Given the description of an element on the screen output the (x, y) to click on. 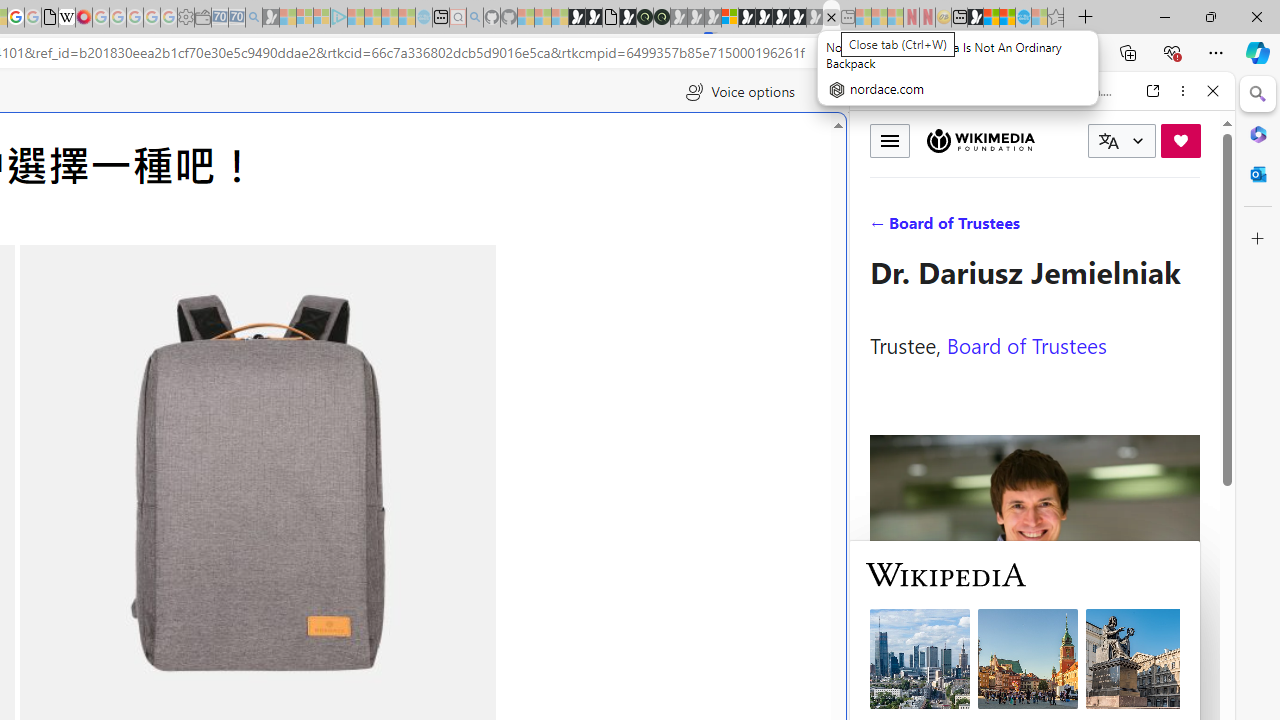
Frequently visited (418, 265)
Voice options (740, 92)
Future Focus Report 2024 (661, 17)
Play Zoo Boom in your browser | Games from Microsoft Start (593, 17)
